Given the description of an element on the screen output the (x, y) to click on. 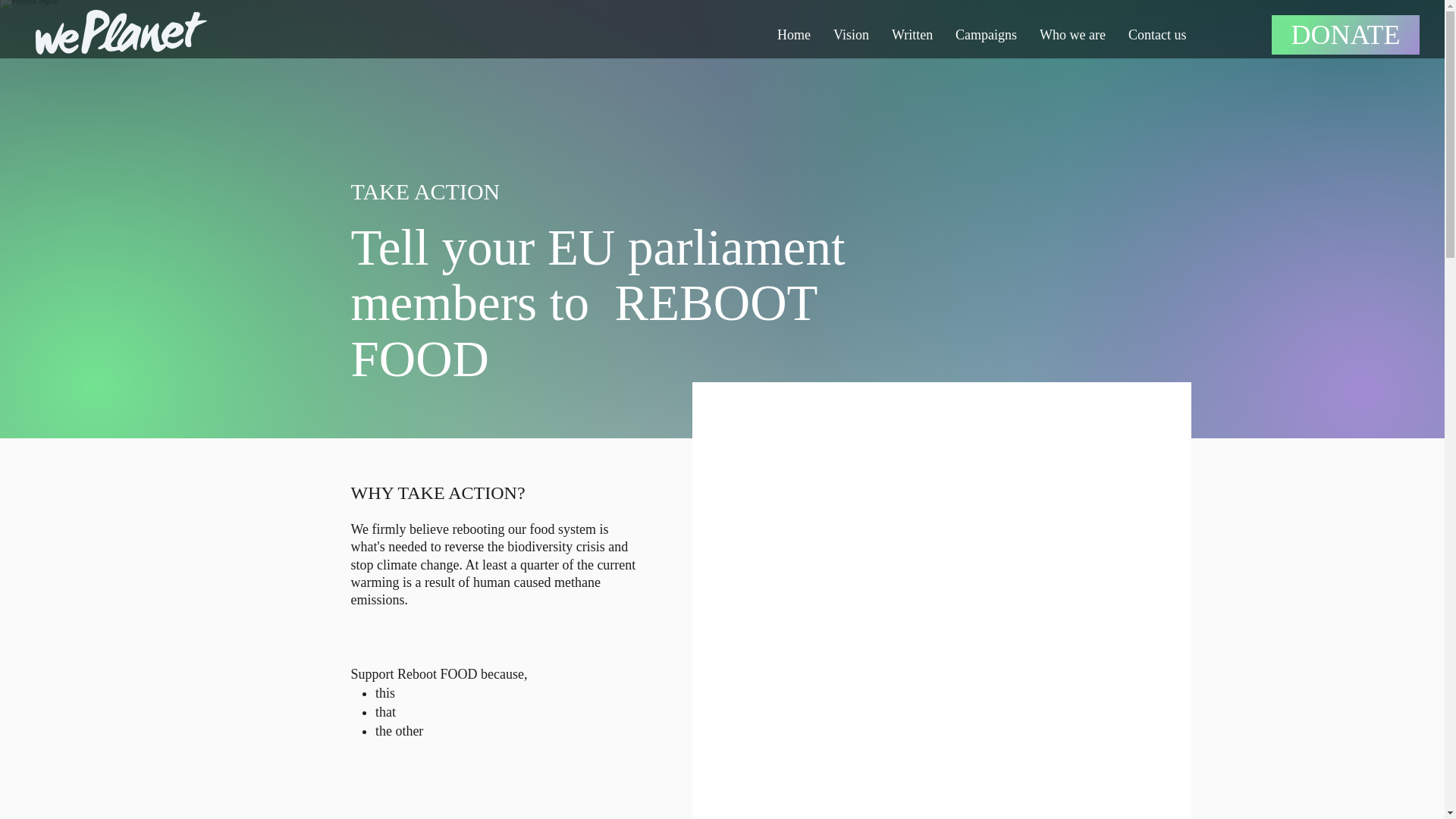
Vision (851, 34)
Contact us (1157, 34)
Home (793, 34)
Written (911, 34)
Who we are (1071, 34)
DONATE (1345, 34)
